Given the description of an element on the screen output the (x, y) to click on. 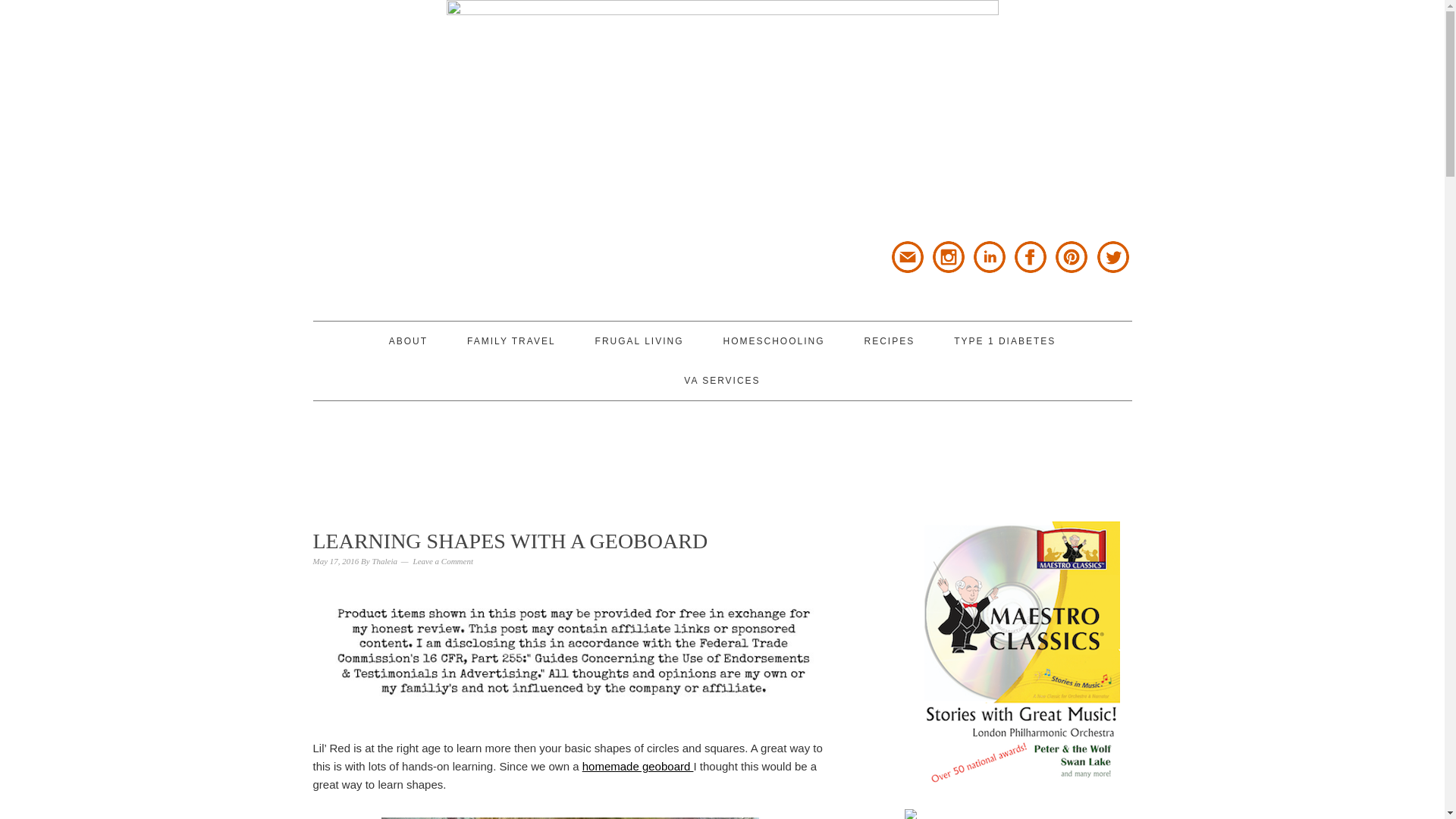
TYPE 1 DIABETES (1004, 341)
SOMETHING 2 OFFER (449, 160)
VA SERVICES (721, 380)
FRUGAL LIVING (639, 341)
HOMESCHOOLING (773, 341)
Advertisement (721, 450)
ABOUT (407, 341)
RECIPES (889, 341)
FAMILY TRAVEL (510, 341)
